Given the description of an element on the screen output the (x, y) to click on. 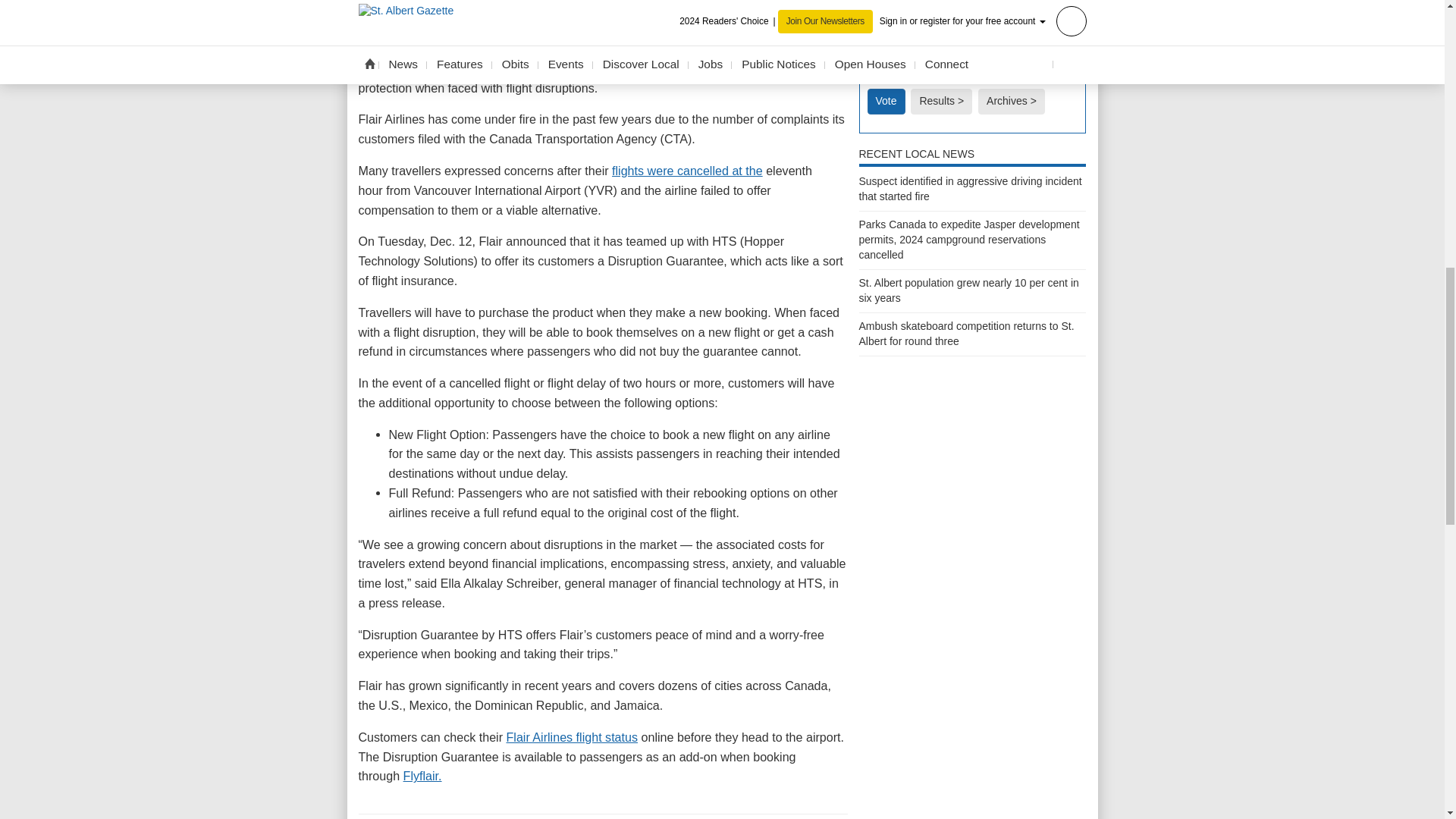
123735 (872, 54)
Has a gallery (968, 341)
123734 (872, 20)
Has a gallery (912, 255)
123733 (872, 2)
